Given the description of an element on the screen output the (x, y) to click on. 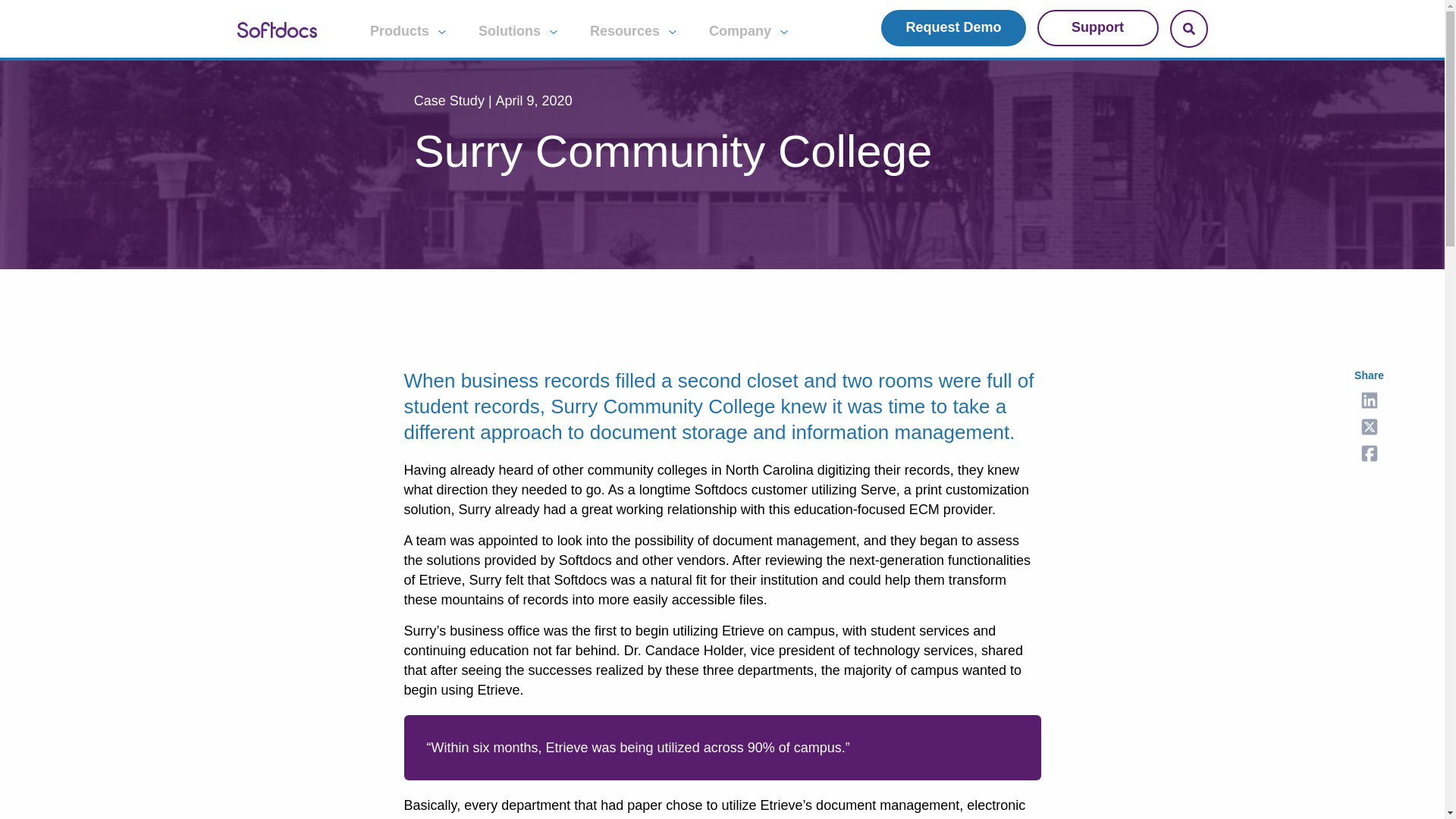
Resources (633, 30)
Products (408, 30)
Company (749, 30)
Solutions (519, 30)
Softdocs (275, 28)
Support (1097, 27)
Request Demo (952, 27)
